Given the description of an element on the screen output the (x, y) to click on. 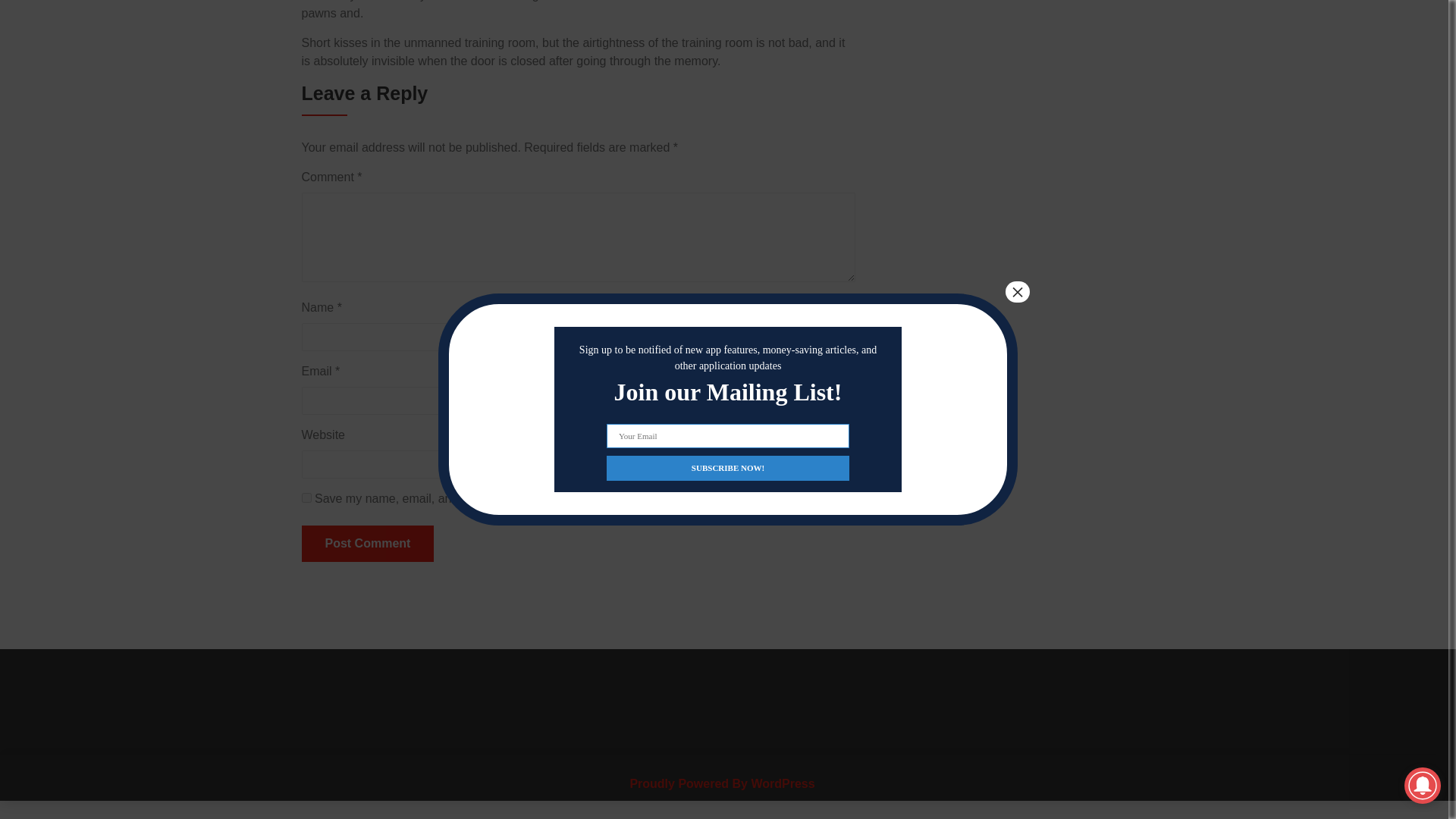
Post Comment (367, 543)
